Given the description of an element on the screen output the (x, y) to click on. 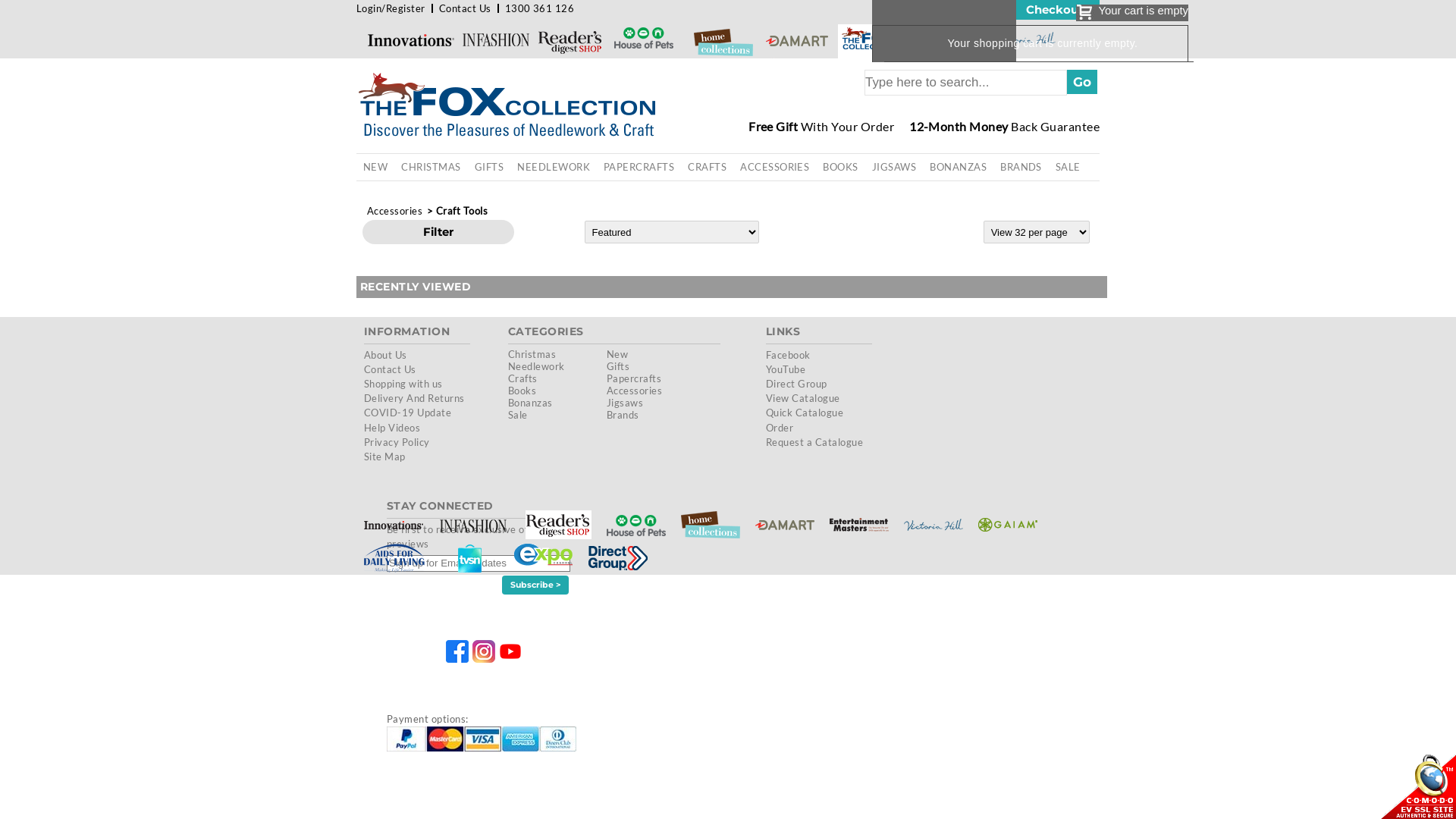
SALE Element type: text (1067, 166)
Accessories Element type: text (634, 390)
Delivery And Returns Element type: text (414, 398)
PAPERCRAFTS Element type: text (638, 166)
Checkout > Element type: text (1057, 9)
Sale Element type: text (517, 414)
JIGSAWS Element type: text (893, 166)
Accessories Element type: text (394, 210)
Your cart is empty Element type: text (1131, 12)
BONANZAS Element type: text (957, 166)
CHRISTMAS Element type: text (430, 166)
Quick Catalogue Order Element type: text (804, 419)
Books Element type: text (522, 390)
About Us Element type: text (385, 354)
Bonanzas Element type: text (530, 402)
Papercrafts Element type: text (633, 378)
Go Element type: text (1081, 81)
BOOKS Element type: text (839, 166)
Crafts Element type: text (522, 378)
Request a Catalogue Element type: text (813, 442)
Direct Group Element type: text (796, 383)
Site Map Element type: text (384, 456)
Jigsaws Element type: text (624, 402)
YouTube Element type: text (785, 369)
New Element type: text (616, 354)
Needlework Element type: text (536, 366)
Login/Register Element type: text (390, 8)
GIFTS Element type: text (488, 166)
ACCESSORIES Element type: text (774, 166)
Contact Us Element type: text (390, 369)
Contact Us Element type: text (465, 8)
Shopping with us Element type: text (403, 383)
Gifts Element type: text (617, 366)
View Catalogue Element type: text (802, 398)
Brands Element type: text (622, 414)
COVID-19 Update Element type: text (407, 412)
NEW Element type: text (375, 166)
BRANDS Element type: text (1020, 166)
CRAFTS Element type: text (706, 166)
Help Videos Element type: text (392, 427)
Facebook Element type: text (787, 354)
Privacy Policy Element type: text (396, 442)
NEEDLEWORK Element type: text (553, 166)
Christmas Element type: text (531, 354)
